Given the description of an element on the screen output the (x, y) to click on. 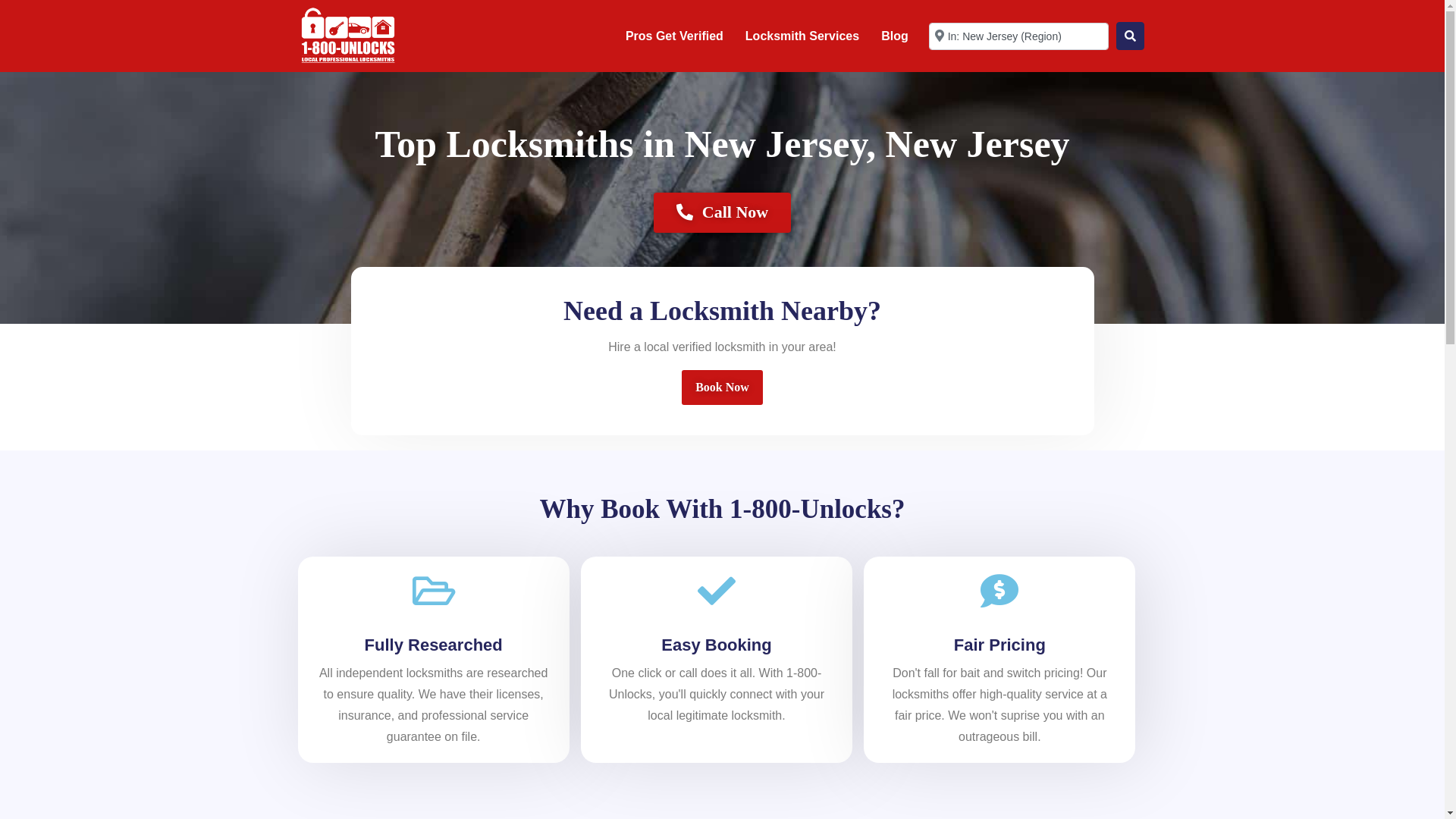
Search
Search Element type: text (1130, 35)
Locksmith Services Element type: text (802, 35)
Pros Get Verified Element type: text (674, 35)
Blog Element type: text (894, 35)
Call Now Element type: text (721, 212)
In: New Jersey (Region) Element type: text (1018, 36)
Book Now Element type: text (721, 387)
